Given the description of an element on the screen output the (x, y) to click on. 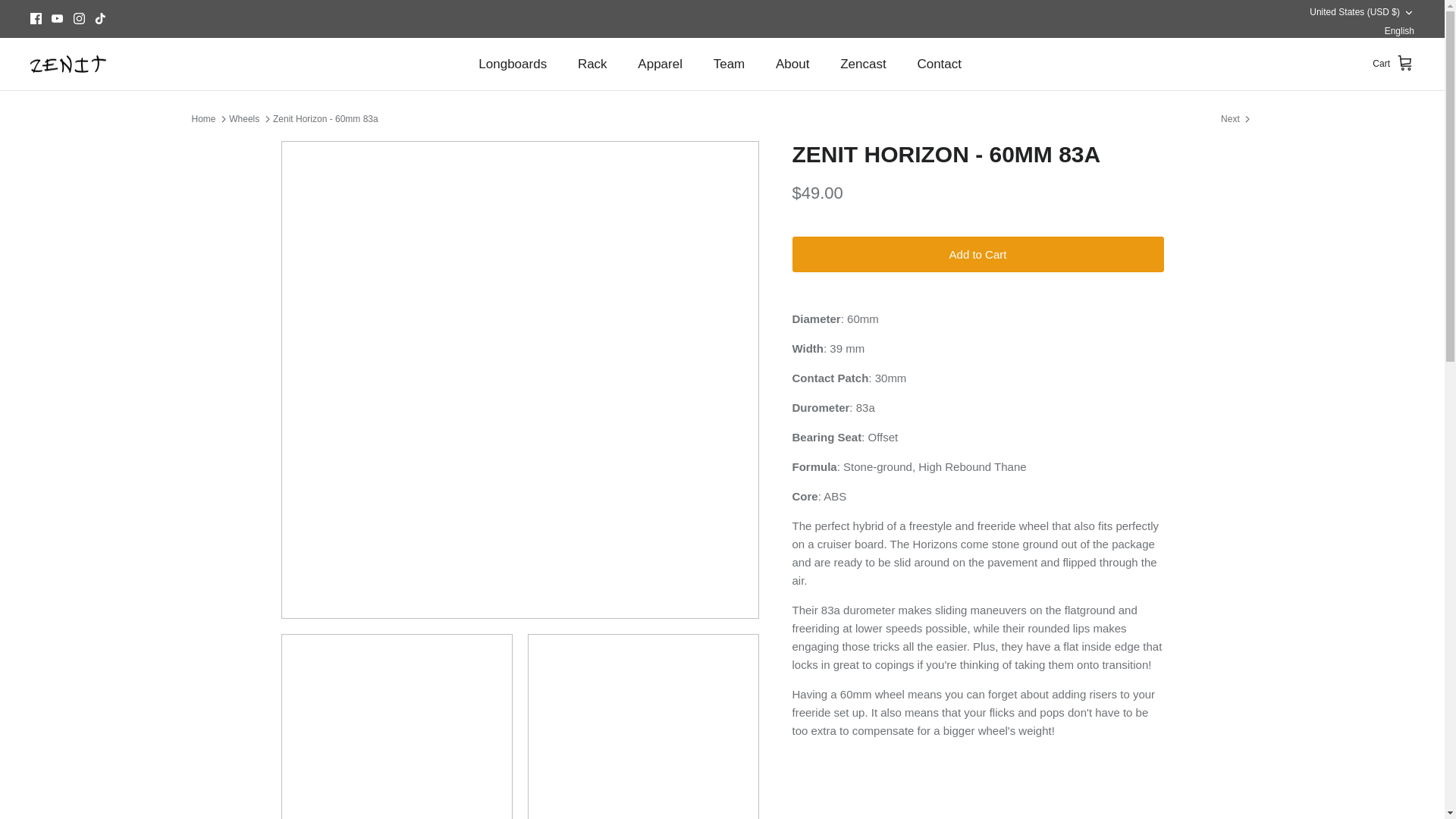
Instagram (79, 18)
Zenit Flow in White - 65mm 78a (1236, 118)
Facebook (36, 18)
Zenit Longboard (68, 64)
Youtube (56, 18)
Down (1408, 12)
Facebook (36, 18)
Youtube (56, 18)
Instagram (79, 18)
